Given the description of an element on the screen output the (x, y) to click on. 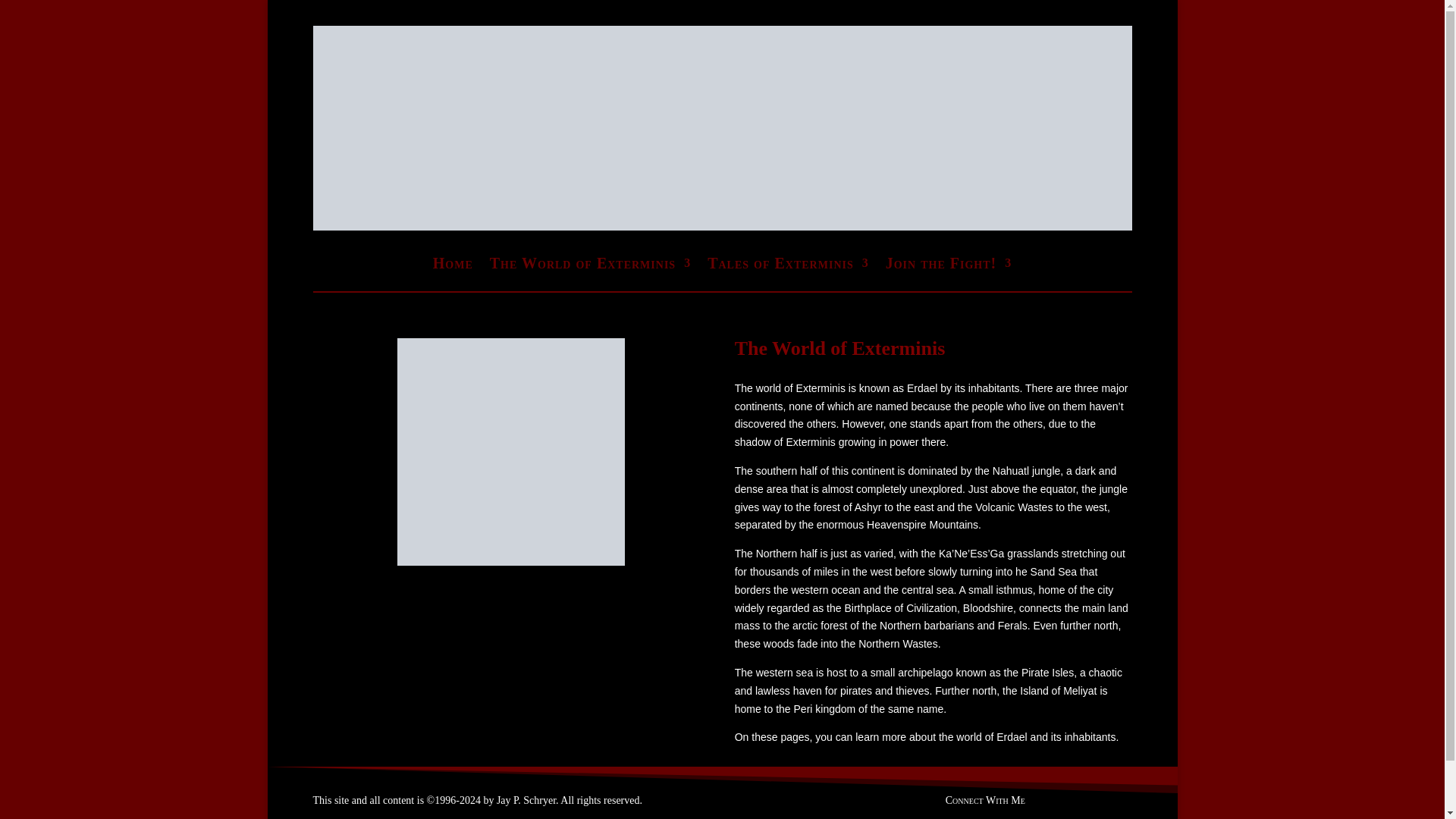
Join the Fight! (948, 265)
Tales of Exterminis (788, 265)
w1XLEJBgnyNMrxfQeTGf--2--mlc3q (510, 451)
Home (452, 265)
The World of Exterminis (589, 265)
